Given the description of an element on the screen output the (x, y) to click on. 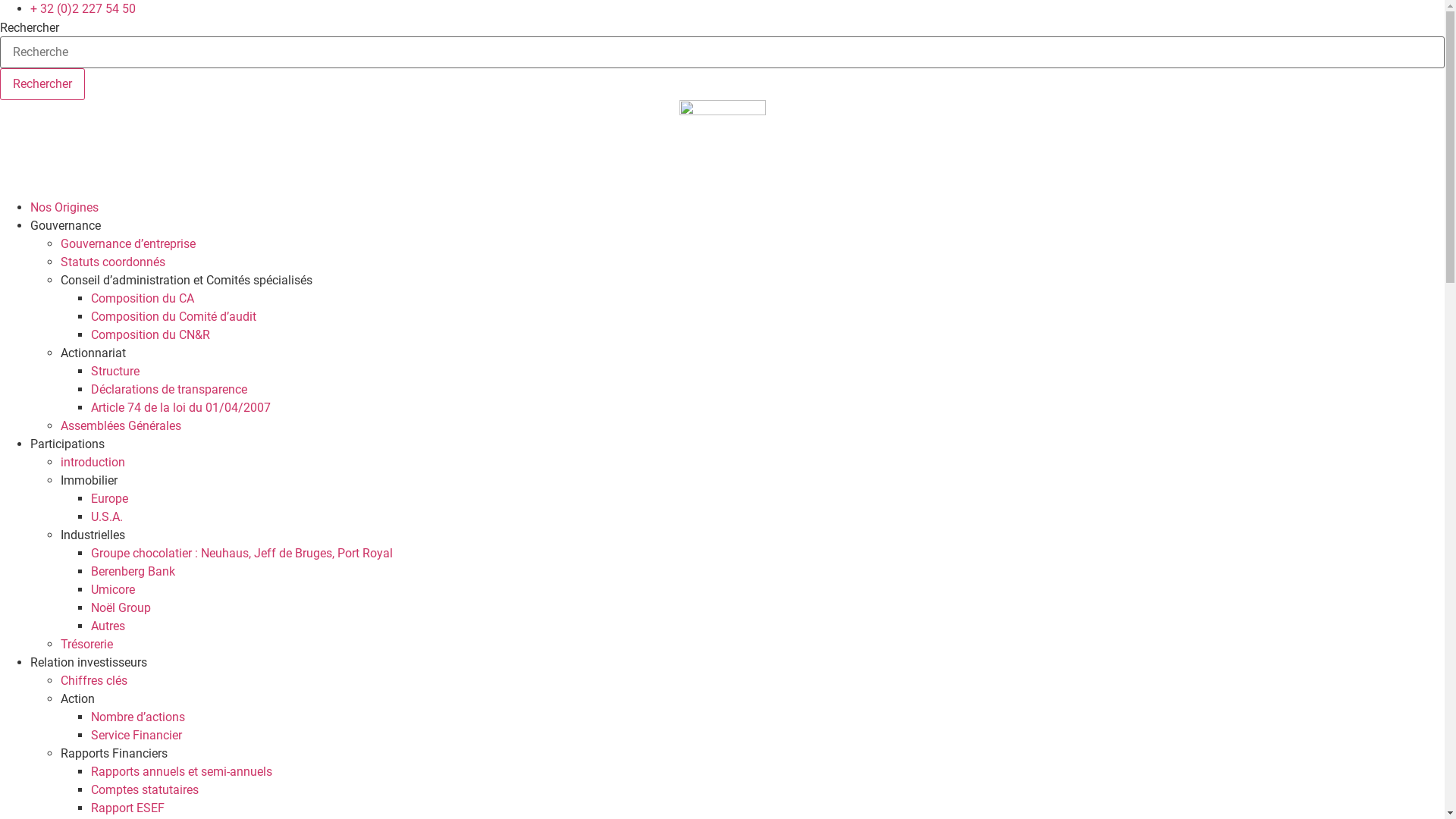
Comptes statutaires Element type: text (144, 789)
Composition du CA Element type: text (142, 298)
Rapports Financiers Element type: text (113, 753)
Nos Origines Element type: text (64, 207)
Industrielles Element type: text (92, 534)
Umicore Element type: text (112, 589)
Rapports annuels et semi-annuels Element type: text (181, 771)
introduction Element type: text (92, 462)
Groupe chocolatier : Neuhaus, Jeff de Bruges, Port Royal Element type: text (241, 553)
Europe Element type: text (109, 498)
U.S.A. Element type: text (106, 516)
Gouvernance Element type: text (65, 225)
Structure Element type: text (115, 371)
Rapport ESEF Element type: text (127, 807)
Autres Element type: text (108, 625)
Composition du CN&R Element type: text (150, 334)
Rechercher Element type: text (42, 84)
Participations Element type: text (67, 443)
Action Element type: text (77, 698)
Relation investisseurs Element type: text (88, 662)
Berenberg Bank Element type: text (133, 571)
Service Financier Element type: text (136, 735)
Immobilier Element type: text (88, 480)
+ 32 (0)2 227 54 50 Element type: text (82, 8)
Article 74 de la loi du 01/04/2007 Element type: text (180, 407)
Actionnariat Element type: text (92, 352)
